Given the description of an element on the screen output the (x, y) to click on. 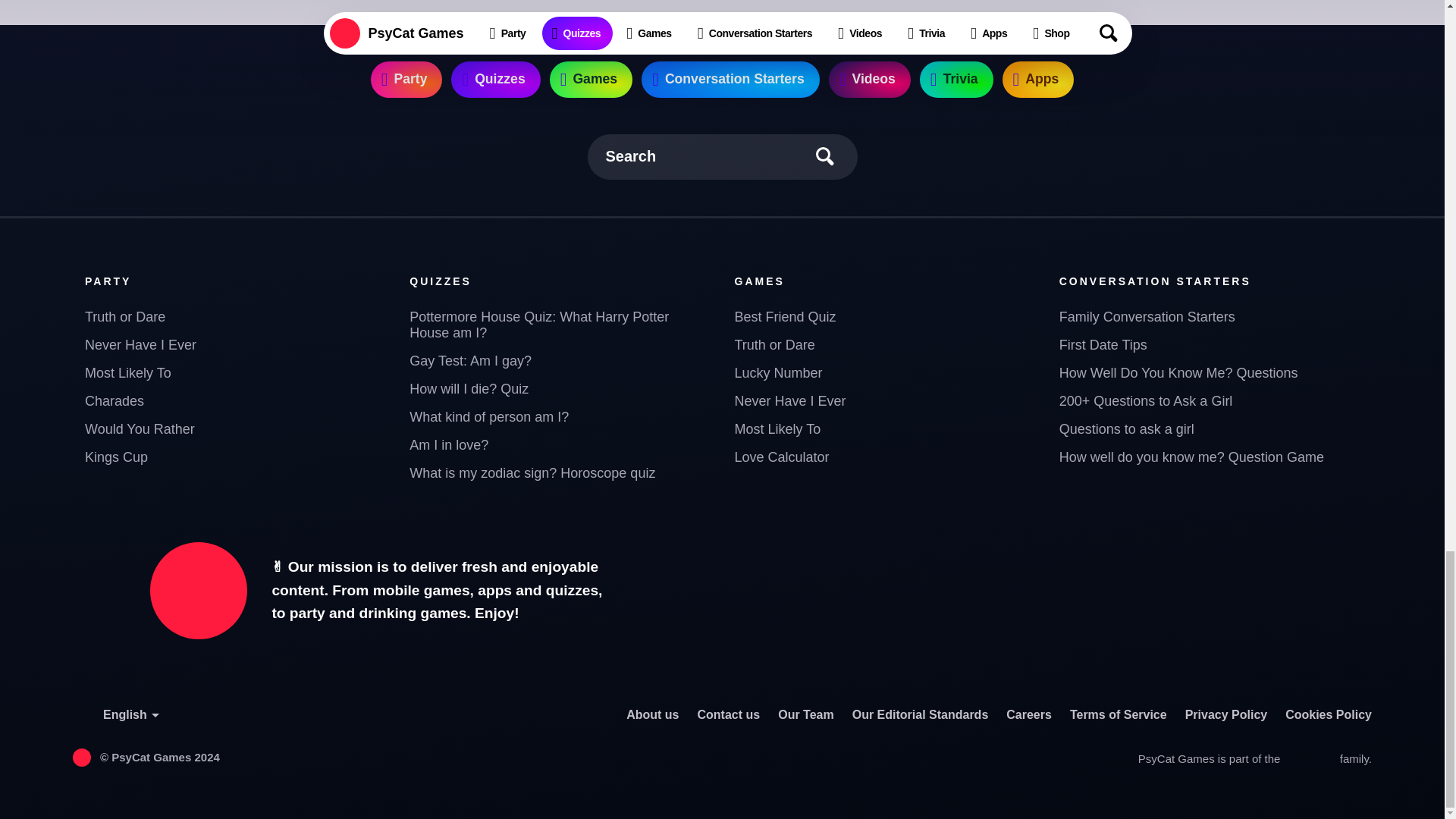
Search (721, 156)
Never Have I Ever (234, 345)
Most Likely To (234, 373)
Truth or Dare (234, 317)
PARTY (107, 281)
Home (426, 3)
Quizzes (504, 3)
Charades (234, 401)
